Given the description of an element on the screen output the (x, y) to click on. 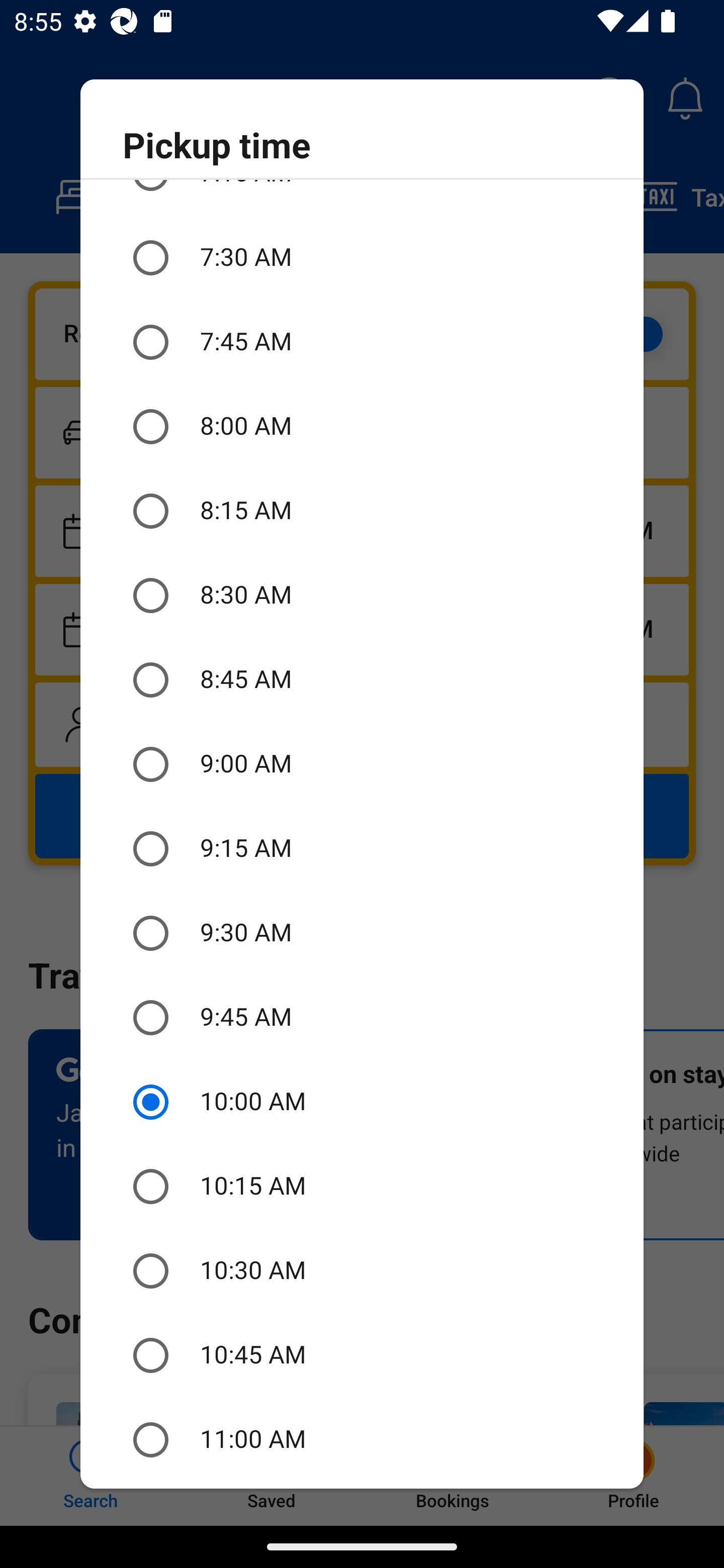
7:30 AM (361, 257)
7:45 AM (361, 341)
8:00 AM (361, 426)
8:15 AM (361, 510)
8:30 AM (361, 595)
8:45 AM (361, 680)
9:00 AM (361, 763)
9:15 AM (361, 847)
9:30 AM (361, 932)
9:45 AM (361, 1017)
10:00 AM (361, 1101)
10:15 AM (361, 1186)
10:30 AM (361, 1271)
10:45 AM (361, 1355)
11:00 AM (361, 1439)
